Given the description of an element on the screen output the (x, y) to click on. 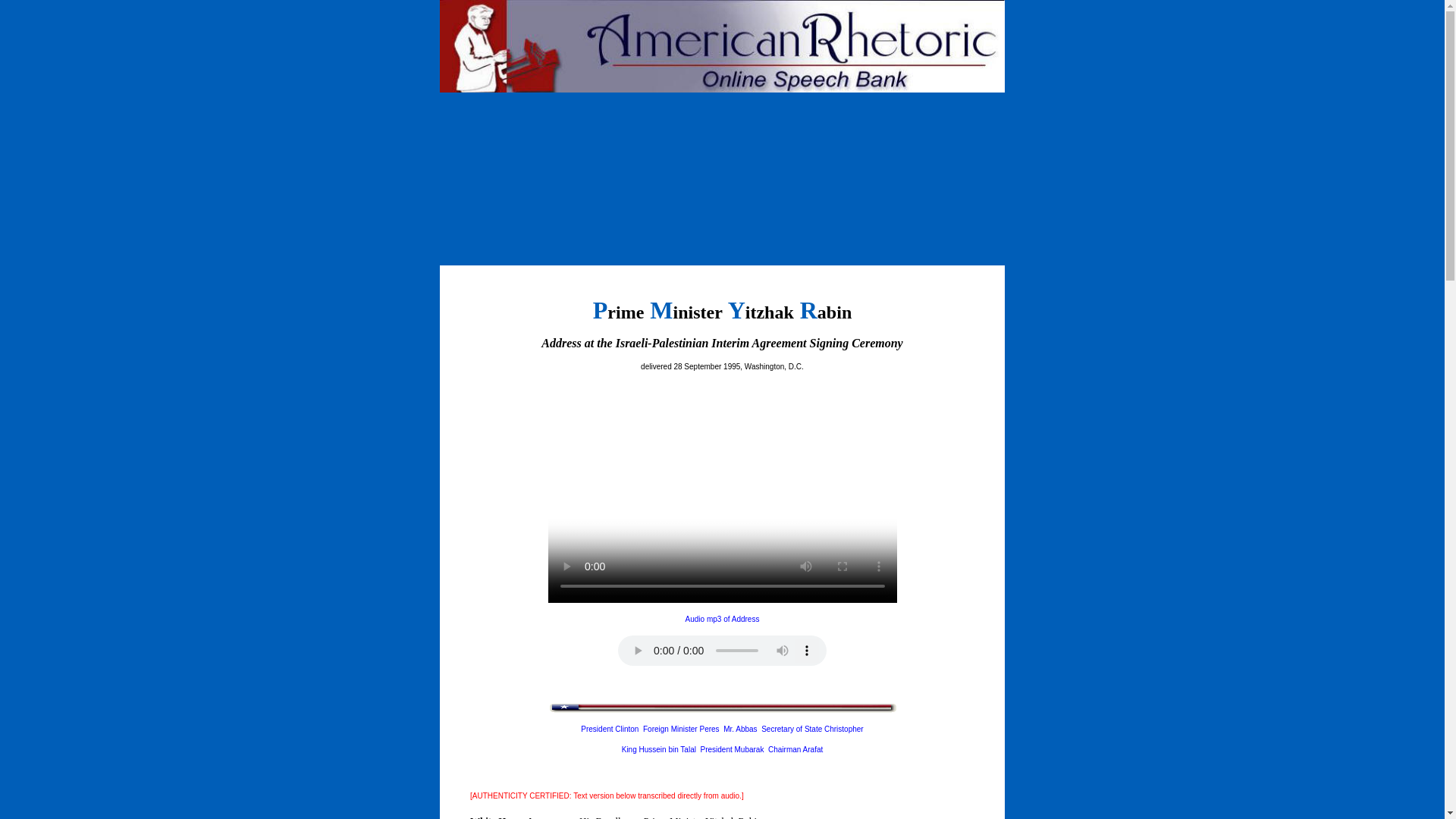
King Hussein bin Talal (658, 749)
Audio mp3 of Address (722, 619)
Chairman Arafat (795, 749)
Foreign Minister Peres (681, 728)
Secretary of State Christopher (812, 728)
Mr. Abbas (740, 728)
Advertisement (721, 219)
President Mubarak (732, 749)
President Clinton (609, 728)
